Given the description of an element on the screen output the (x, y) to click on. 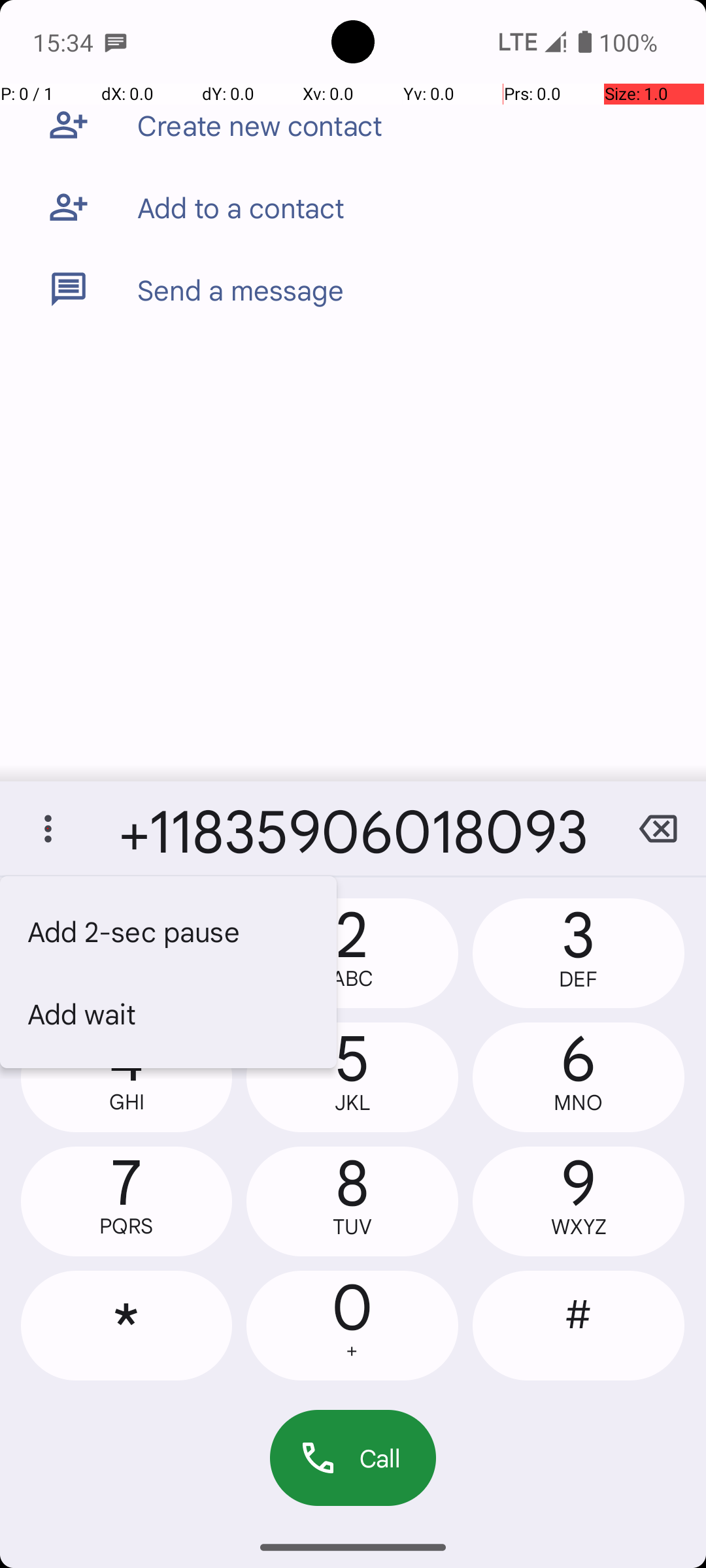
Add 2-sec pause Element type: android.widget.TextView (168, 930)
Add wait Element type: android.widget.TextView (168, 1012)
